Given the description of an element on the screen output the (x, y) to click on. 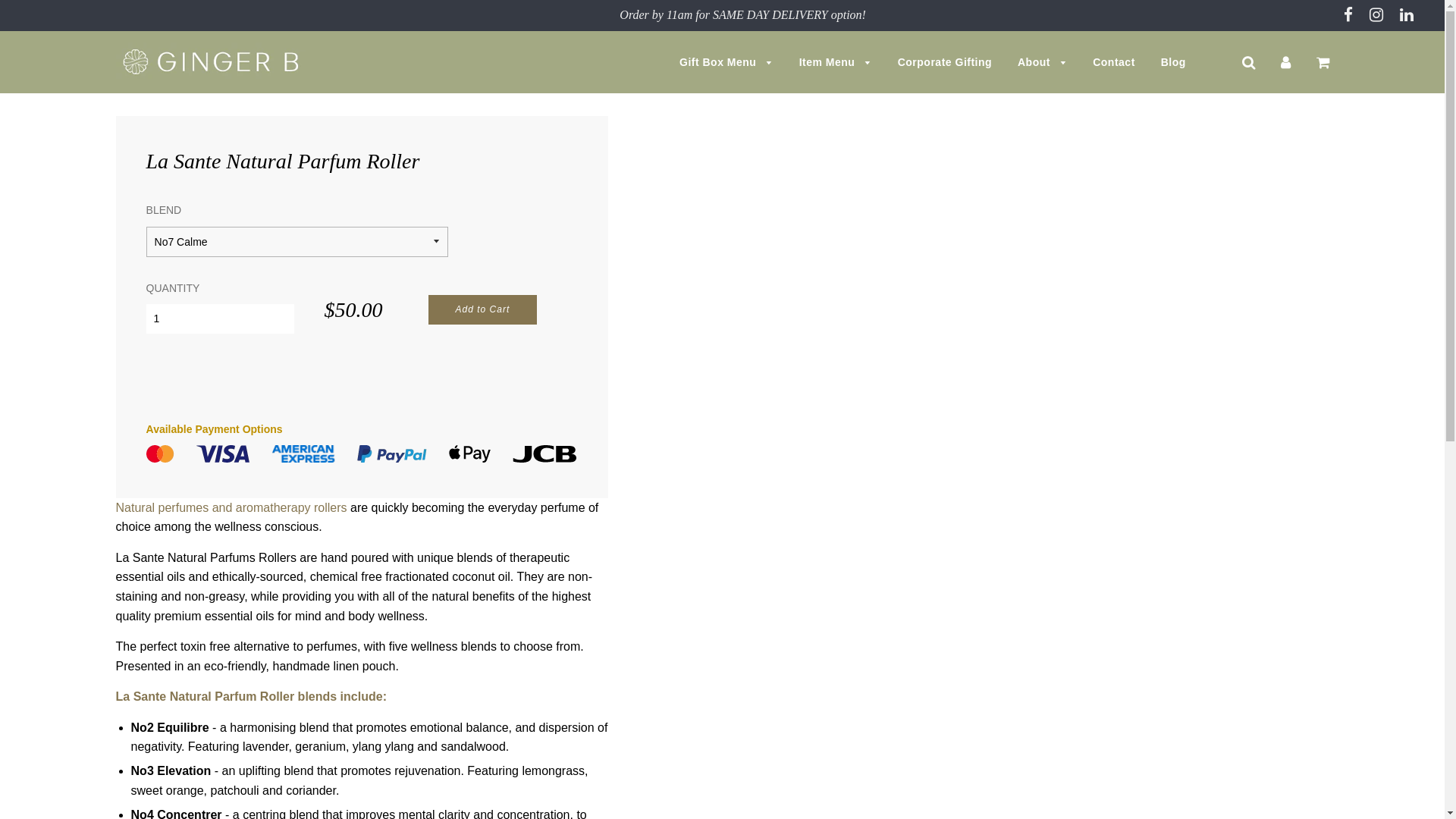
Contact Element type: text (1113, 61)
Add to Cart Element type: text (482, 309)
Gift Box Menu Element type: text (726, 61)
Corporate Gifting Element type: text (944, 61)
Item Menu Element type: text (835, 61)
Log in Element type: hover (1285, 62)
Blog Element type: text (1167, 61)
About Element type: text (1042, 61)
Order by 11am for SAME DAY DELIVERY option! Element type: text (742, 14)
